Given the description of an element on the screen output the (x, y) to click on. 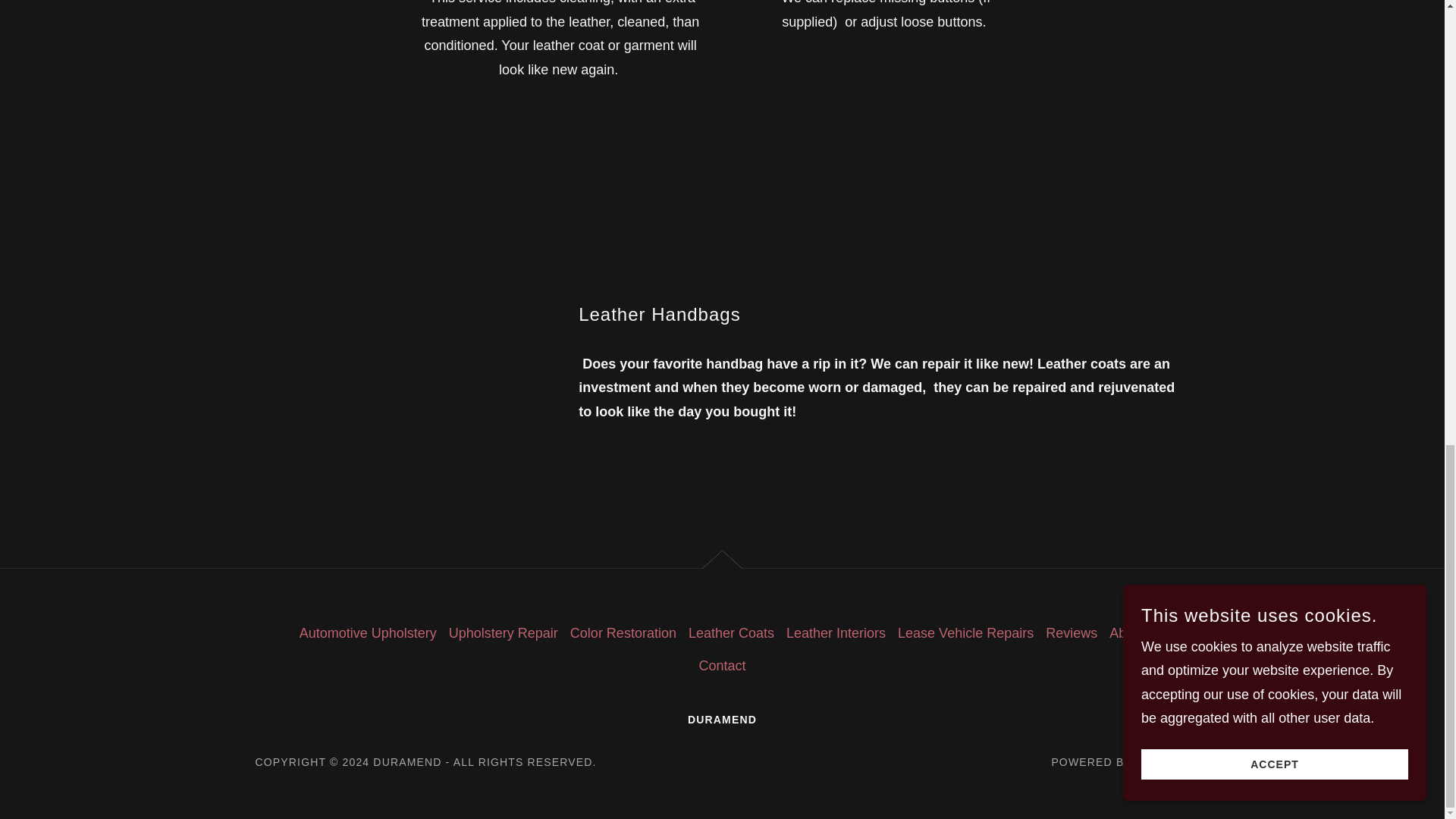
GODADDY (1162, 761)
Leather Coats (731, 633)
Reviews (1071, 633)
About (1127, 633)
Color Restoration (623, 633)
Upholstery Repair (503, 633)
Lease Vehicle Repairs (965, 633)
Leather Interiors (835, 633)
Automotive Upholstery (368, 633)
Contact (722, 666)
